Given the description of an element on the screen output the (x, y) to click on. 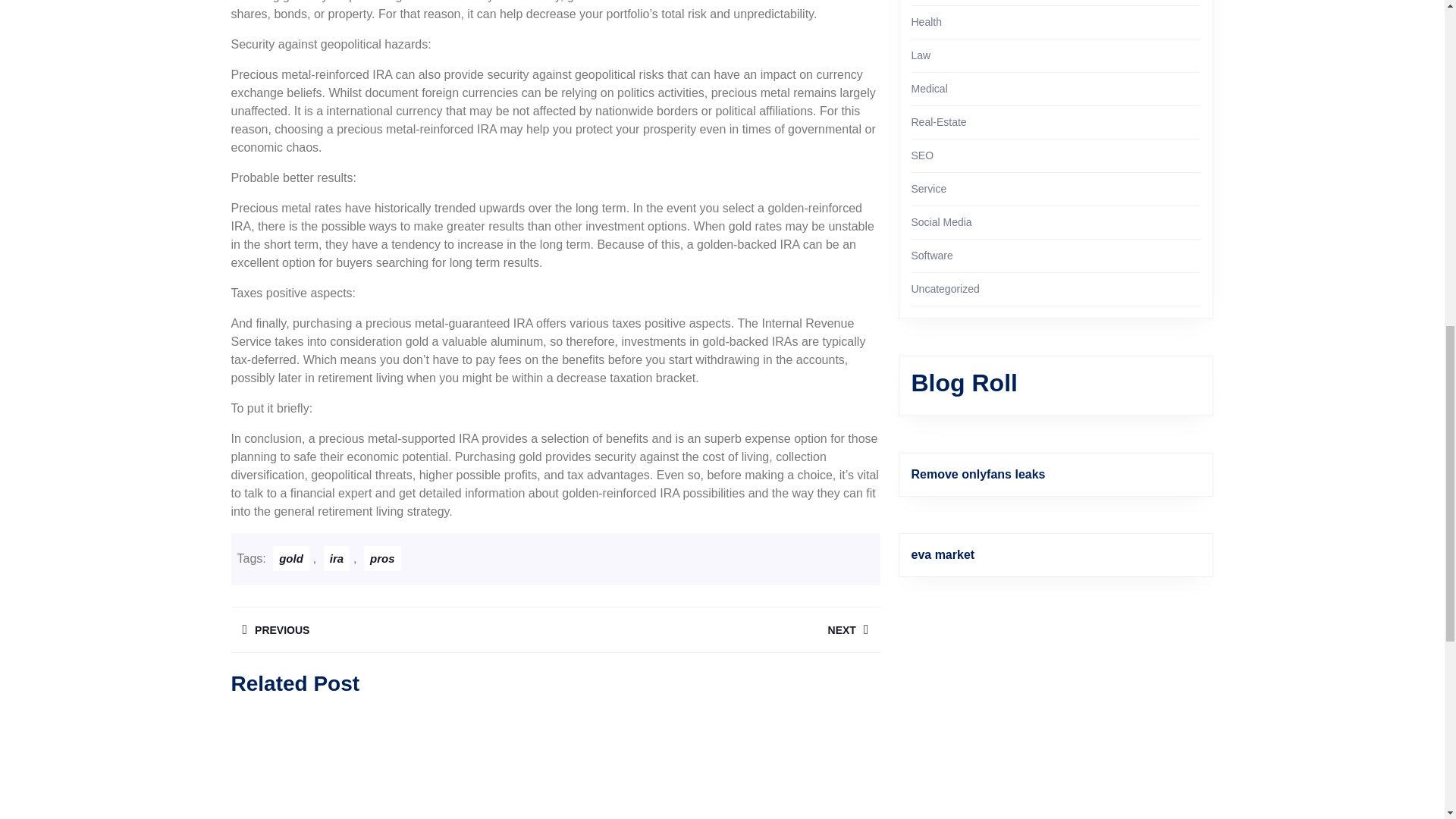
gold (290, 558)
ira (336, 558)
pros (382, 558)
